Given the description of an element on the screen output the (x, y) to click on. 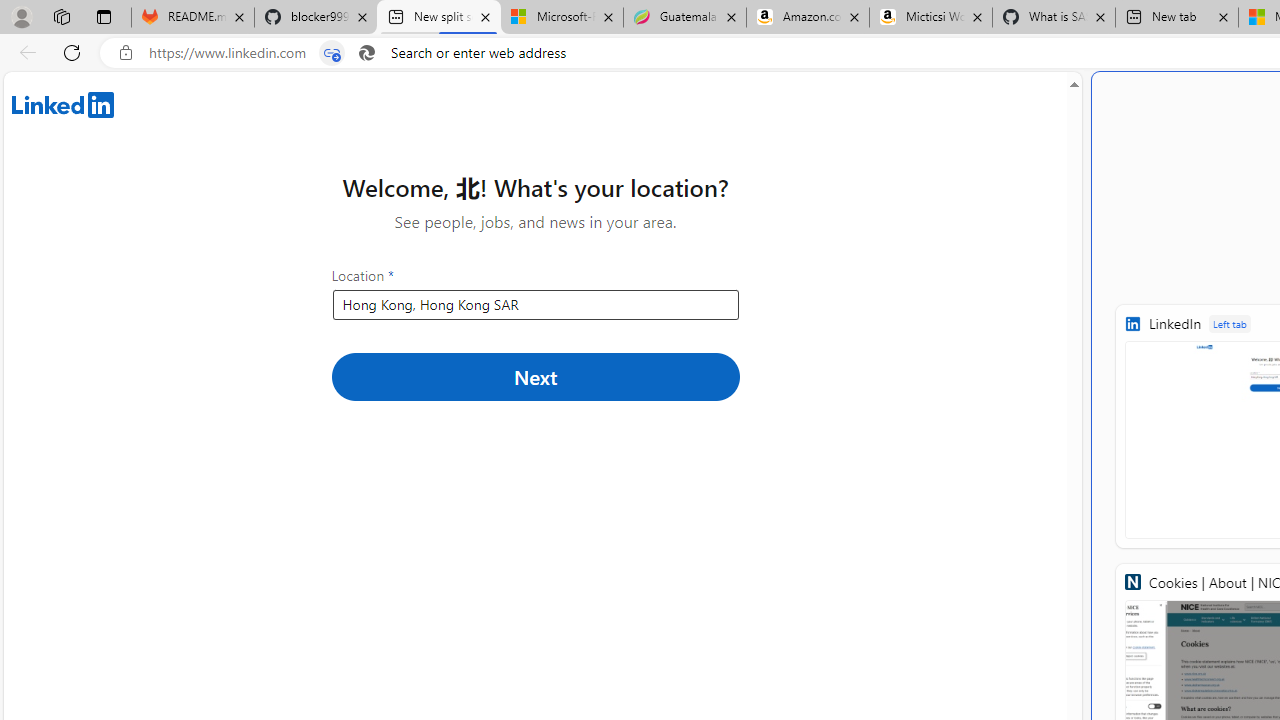
New split screen (438, 17)
